Given the description of an element on the screen output the (x, y) to click on. 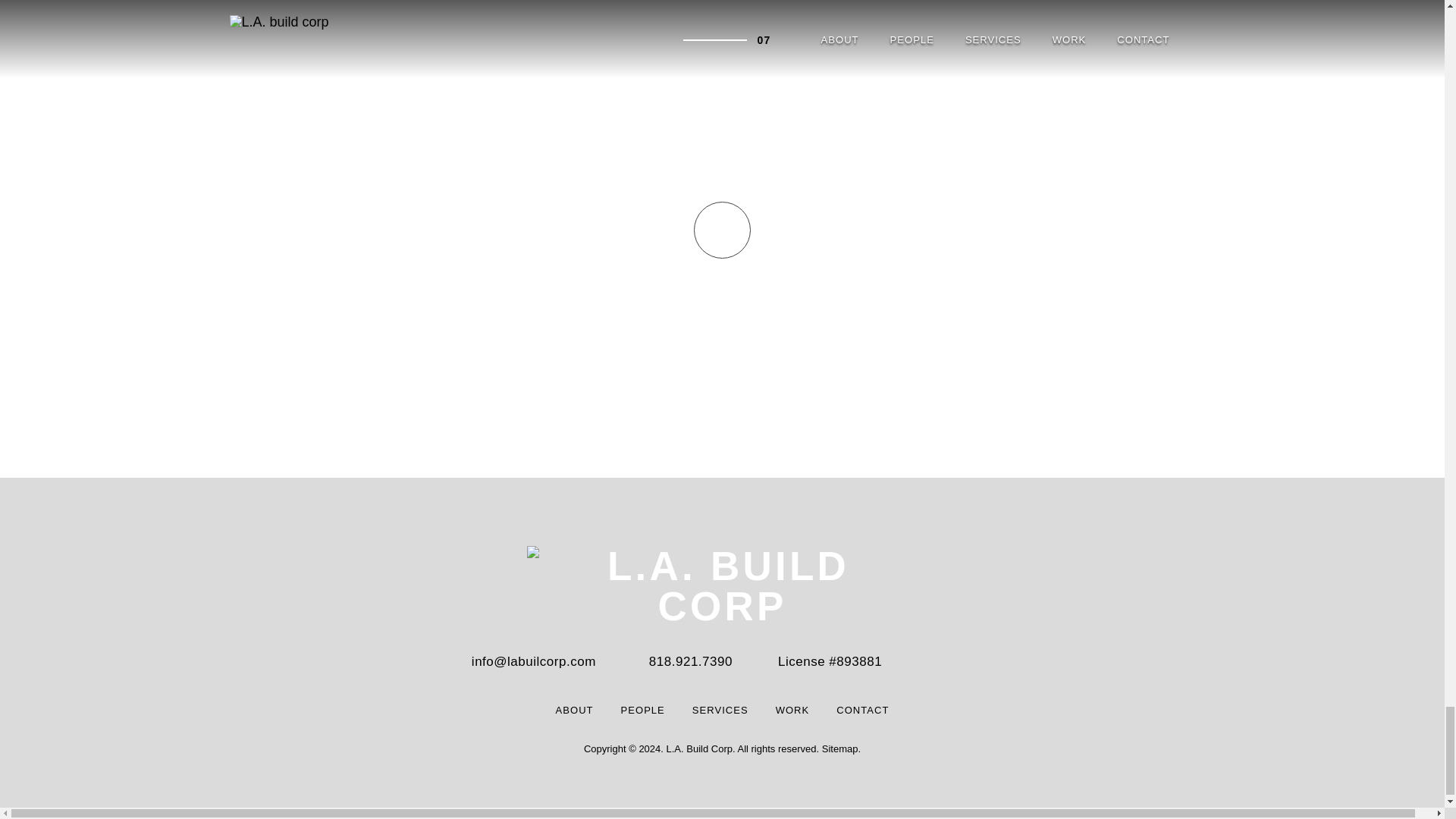
818.921.7390 (690, 661)
PEOPLE (643, 710)
Send (511, 592)
ABOUT (575, 710)
